Given the description of an element on the screen output the (x, y) to click on. 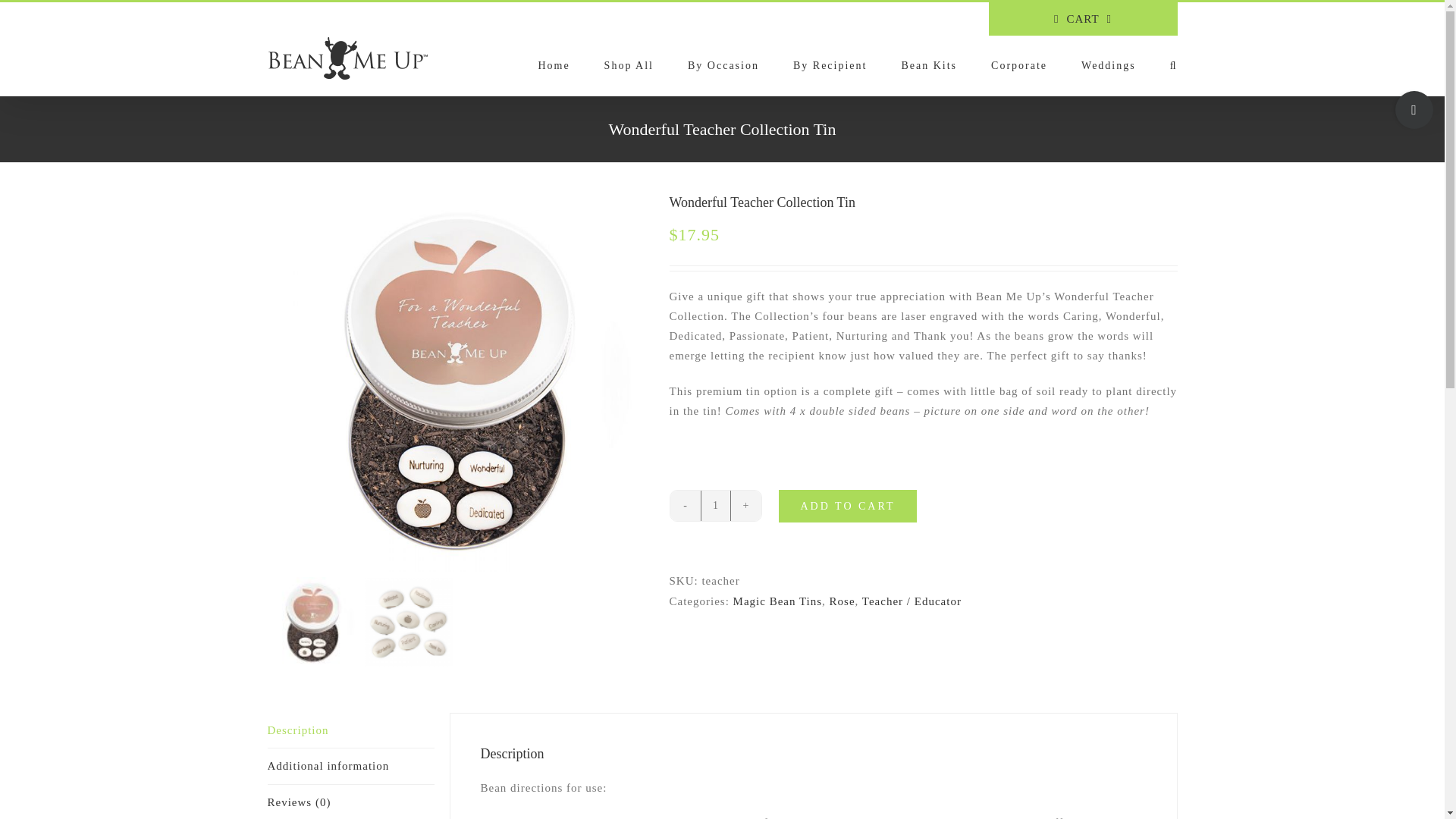
Search (1173, 65)
1 (715, 505)
Weddings (1108, 65)
By Recipient (830, 65)
CART (1082, 19)
By Occasion (722, 65)
- (684, 505)
Shop All (628, 65)
Bean Kits (928, 65)
teacher done (133, 381)
Corporate (1018, 65)
Home (553, 65)
